Given the description of an element on the screen output the (x, y) to click on. 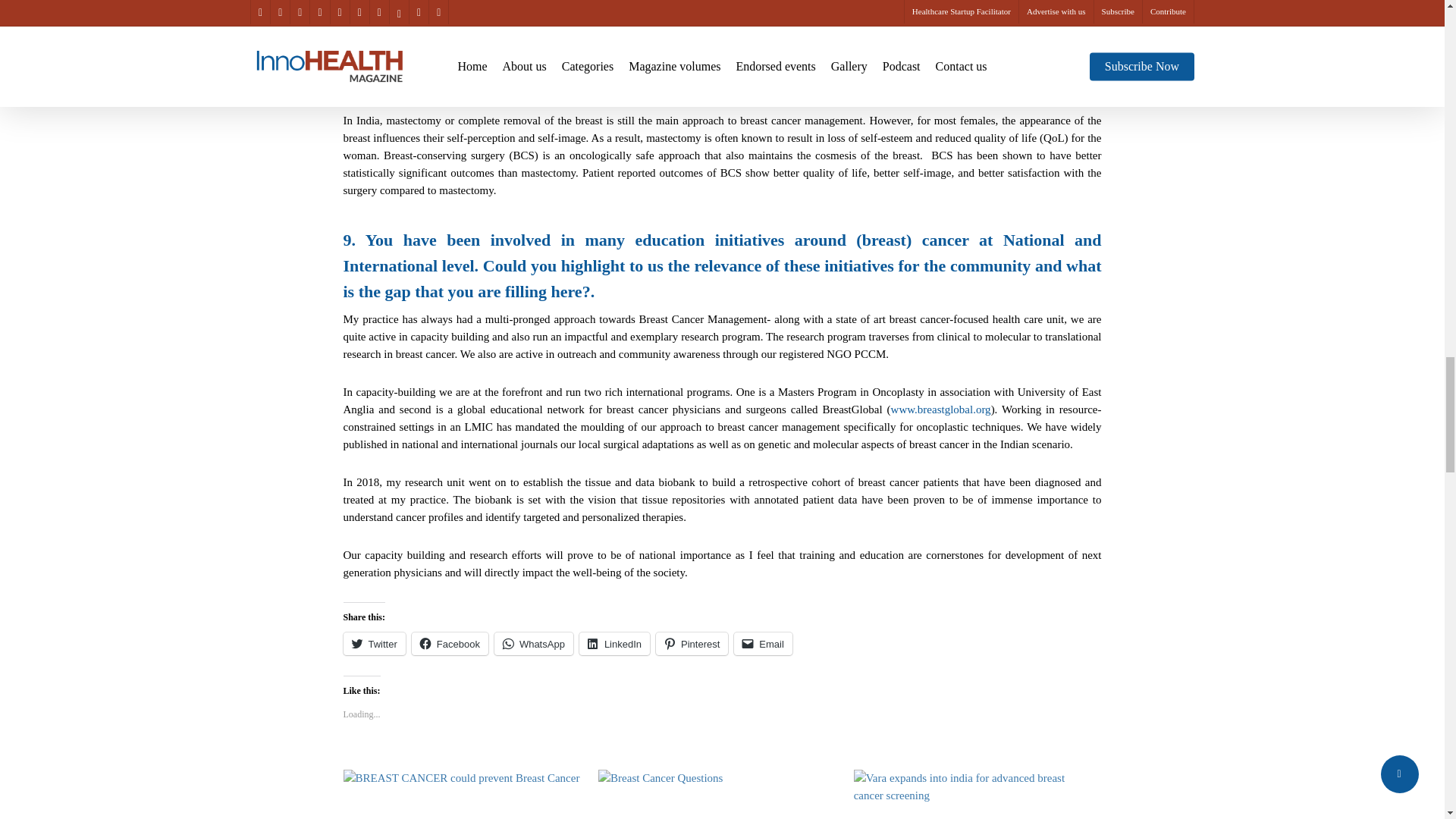
Click to share on LinkedIn (614, 643)
10 Questions about breast cancer (718, 794)
Click to share on Facebook (449, 643)
Vara expands into india for advanced breast cancer screening (973, 794)
Click to email a link to a friend (762, 643)
Click to share on Twitter (373, 643)
Click to share on Pinterest (692, 643)
Click to share on WhatsApp (534, 643)
